Given the description of an element on the screen output the (x, y) to click on. 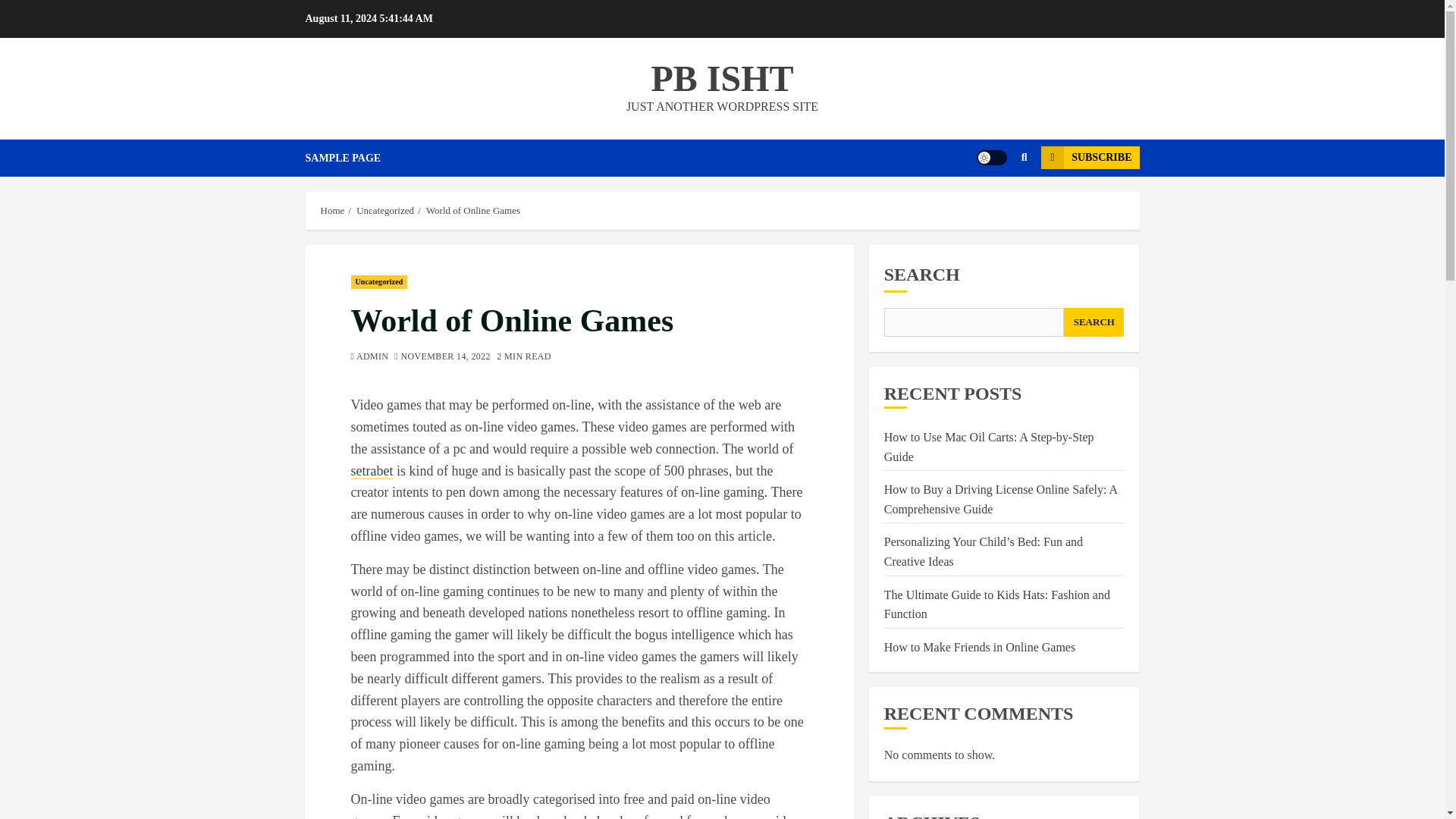
The Ultimate Guide to Kids Hats: Fashion and Function (996, 604)
Search (994, 203)
setrabet (371, 471)
SUBSCRIBE (1089, 157)
How to Make Friends in Online Games (979, 647)
Home (331, 210)
How to Use Mac Oil Carts: A Step-by-Step Guide (988, 447)
World of Online Games (472, 210)
Uncategorized (384, 210)
SAMPLE PAGE (353, 157)
